Given the description of an element on the screen output the (x, y) to click on. 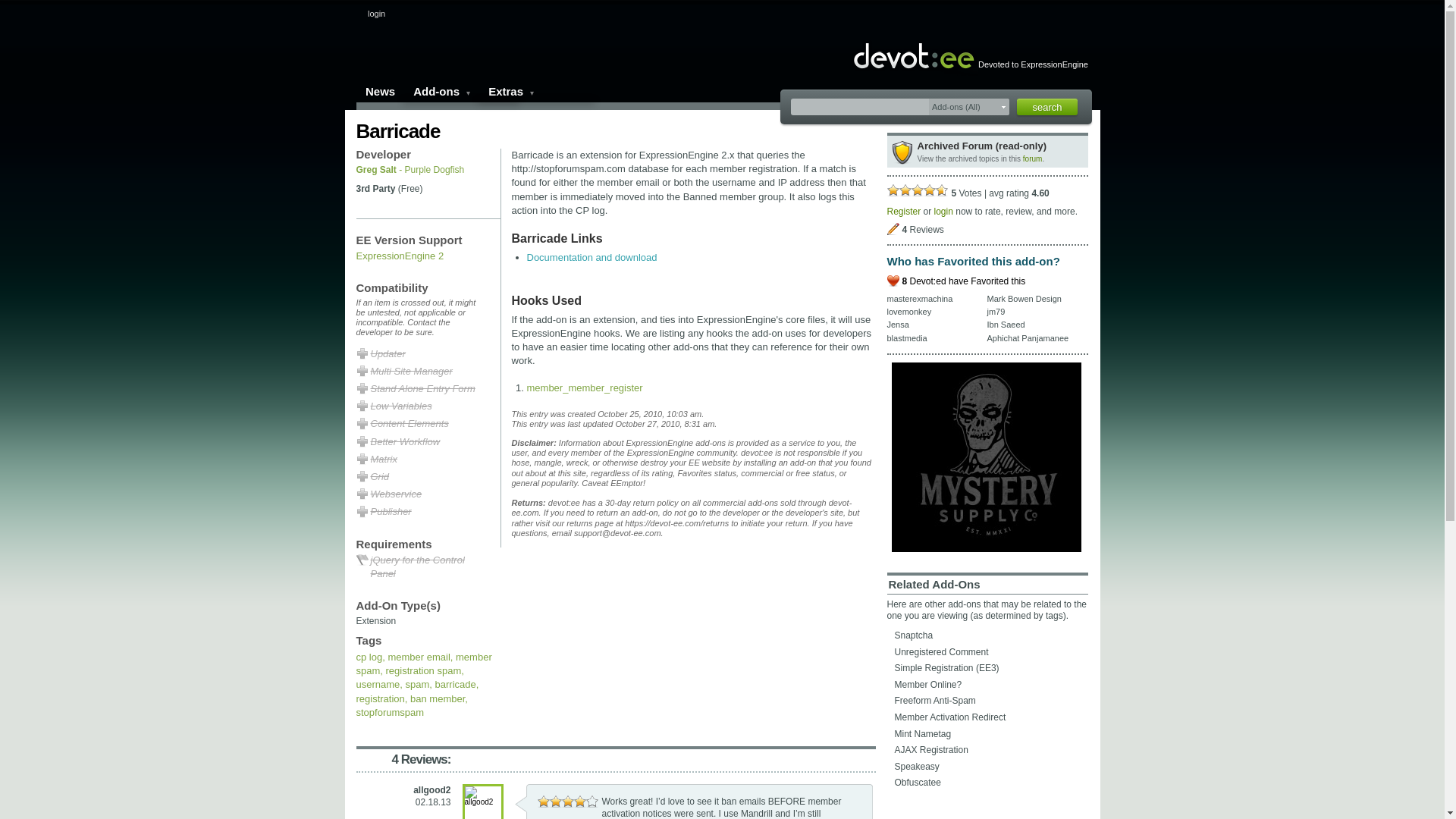
Search entries tagged 'member spam' (424, 663)
barricade (455, 684)
Not compatible or untested with Matrix (424, 459)
login (376, 13)
Search entries tagged 'cp log' (369, 656)
registration (380, 698)
Search entries tagged 'registration spam' (423, 670)
stopforumspam (390, 712)
At least one keyword is required! (859, 106)
Not compatible or untested with Webservice (424, 494)
Search entries tagged 'barricade' (455, 684)
spam (417, 684)
Not compatible or untested with Multi Site Manager (424, 372)
Not compatible or untested with Grid (424, 477)
Search entries tagged 'username' (378, 684)
